Given the description of an element on the screen output the (x, y) to click on. 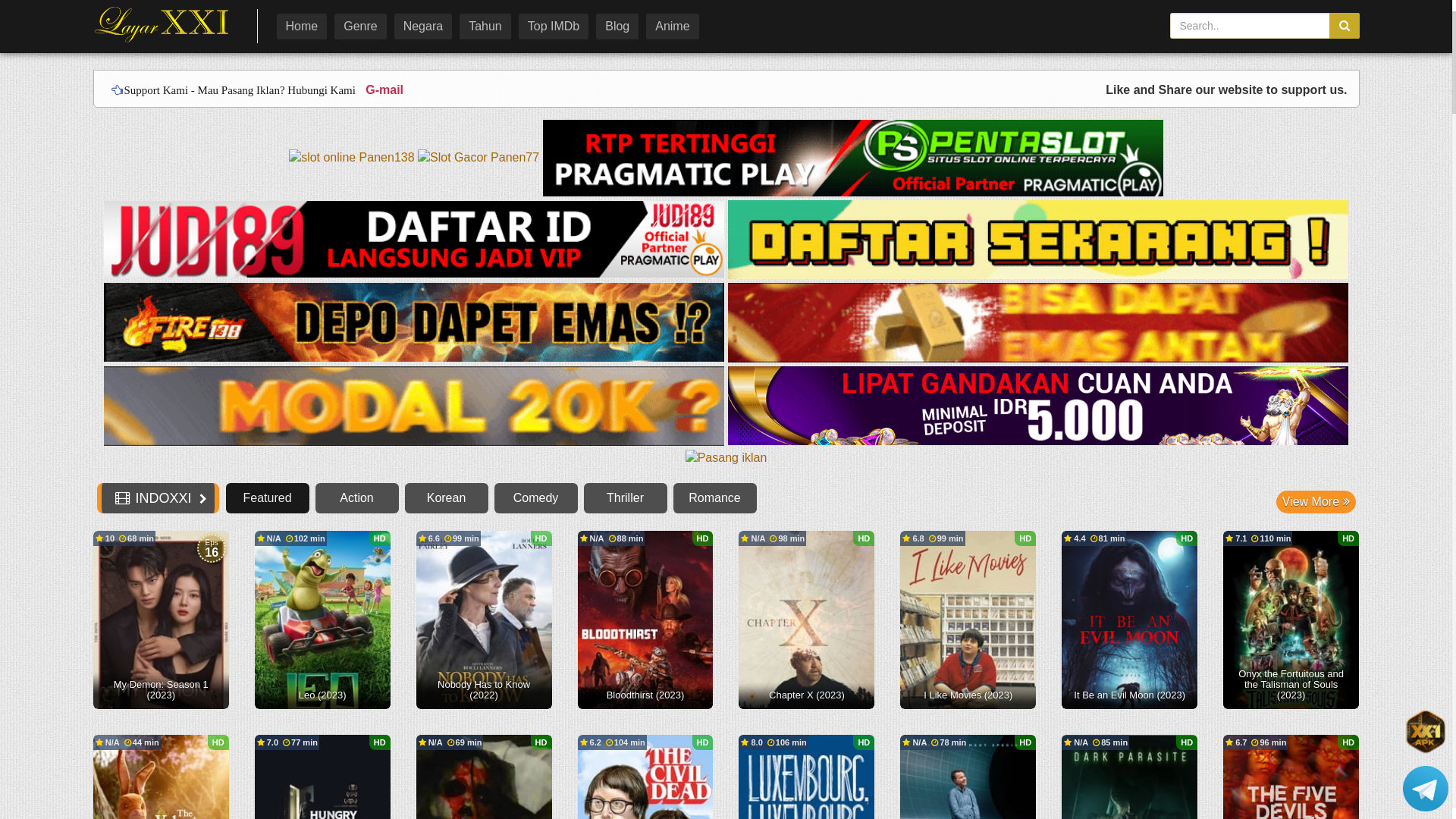
Judi89 Element type: hover (415, 240)
Featured Element type: text (267, 498)
HD
N/A
102
Leo (2023) Element type: text (322, 619)
W77 Element type: hover (415, 406)
Action Element type: text (356, 498)
INDOXXI Element type: hover (163, 23)
HD
N/A
88
Bloodthirst (2023) Element type: text (645, 619)
Thriller Element type: text (625, 498)
Tahun Element type: text (485, 26)
HD
4.4
81
It Be an Evil Moon (2023) Element type: text (1129, 619)
Bolaslot21 Element type: hover (1038, 406)
HD
6.6
99
Nobody Has to Know (2022) Element type: text (484, 619)
View More Element type: text (1315, 501)
Korean Element type: text (446, 498)
Home Element type: text (301, 26)
HD
6.8
99
I Like Movies (2023) Element type: text (967, 619)
Negara Element type: text (422, 26)
  G-mail Element type: text (380, 89)
AGEN138 Element type: hover (1038, 322)
Pentaslot Element type: hover (852, 158)
Romance Element type: text (714, 498)
Genre Element type: text (359, 26)
Eps
16
10
68
My Demon: Season 1 (2023) Element type: text (161, 619)
Top IMDb Element type: text (553, 26)
Anime Element type: text (672, 26)
Fire138 Element type: hover (725, 364)
HD
N/A
98
Chapter X (2023) Element type: text (806, 619)
Blog Element type: text (617, 26)
Pasang iklan Element type: hover (726, 458)
Comedy Element type: text (535, 498)
Asu138 Element type: hover (1038, 240)
